Given the description of an element on the screen output the (x, y) to click on. 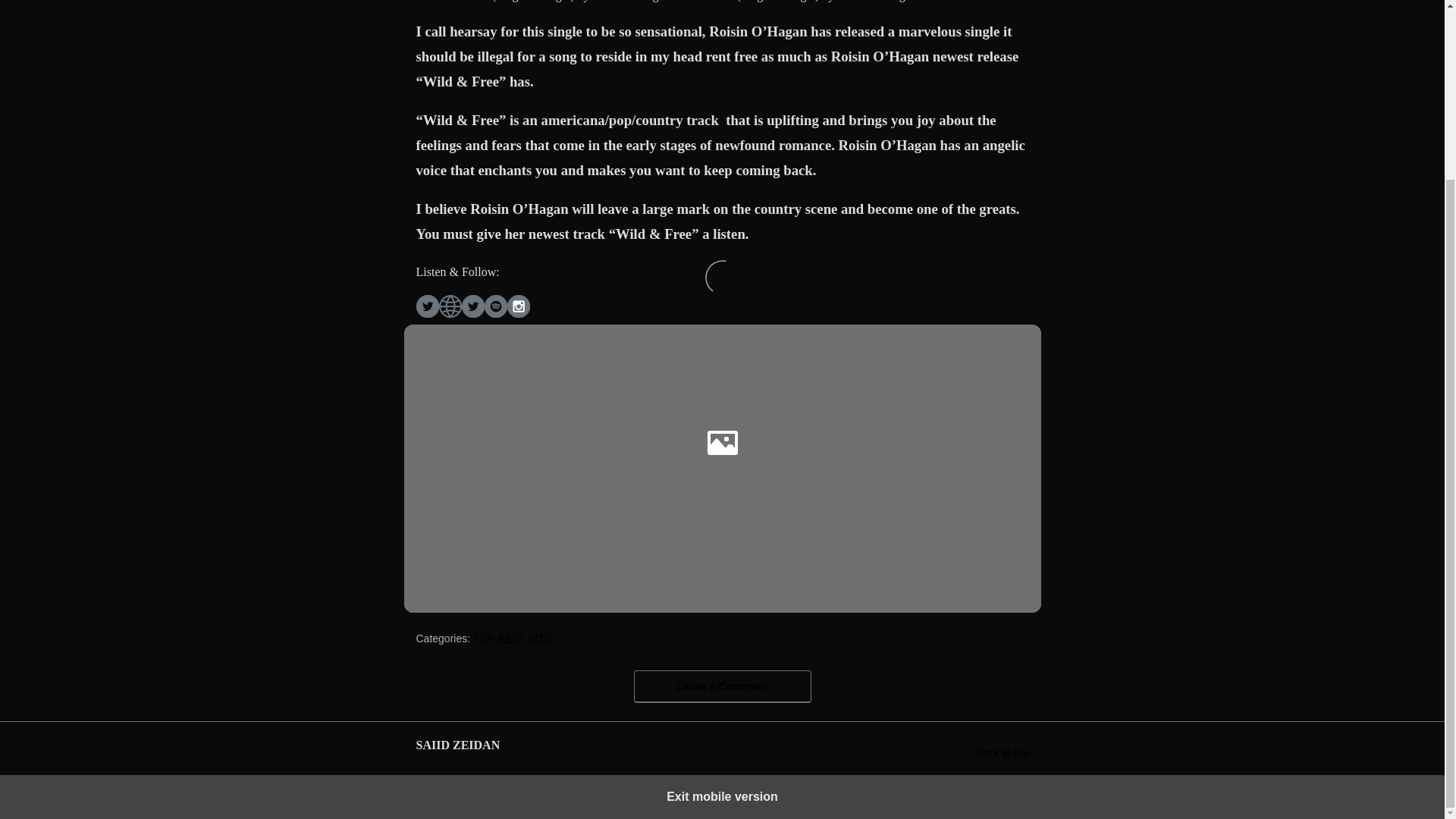
TOP BEST HITS (512, 638)
Leave a Comment (721, 686)
Back to top (1002, 752)
